Given the description of an element on the screen output the (x, y) to click on. 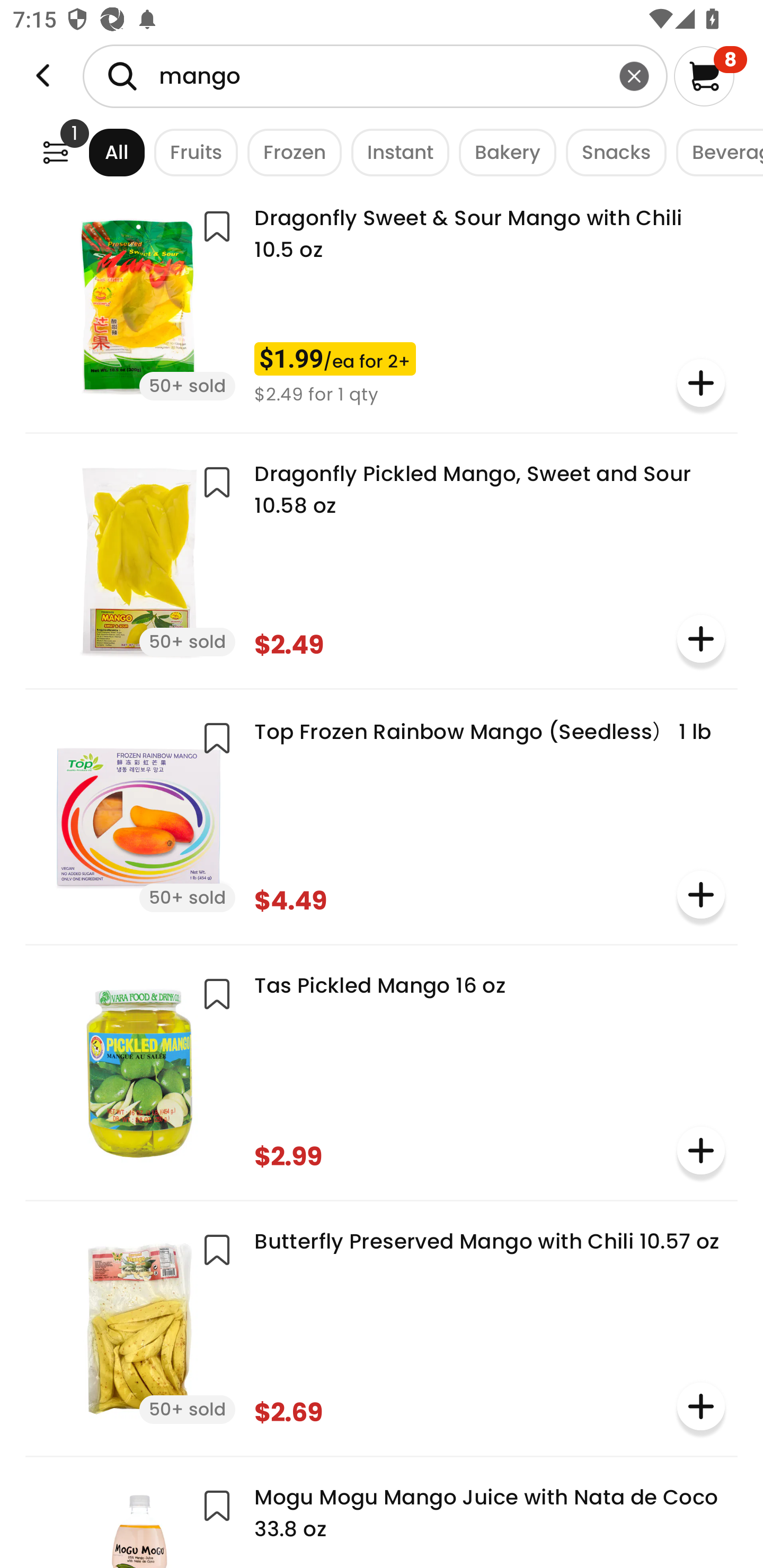
mango (374, 75)
8 (709, 75)
Weee! (42, 76)
Weee! (55, 151)
All (99, 151)
Fruits (191, 151)
Frozen (289, 151)
Instant (395, 151)
Bakery (502, 151)
Snacks (611, 151)
Beverages (714, 151)
Tas Pickled Mango 16 oz $2.99 (381, 1070)
Mogu Mogu Mango Juice with Nata de Coco 33.8 oz (381, 1519)
